Given the description of an element on the screen output the (x, y) to click on. 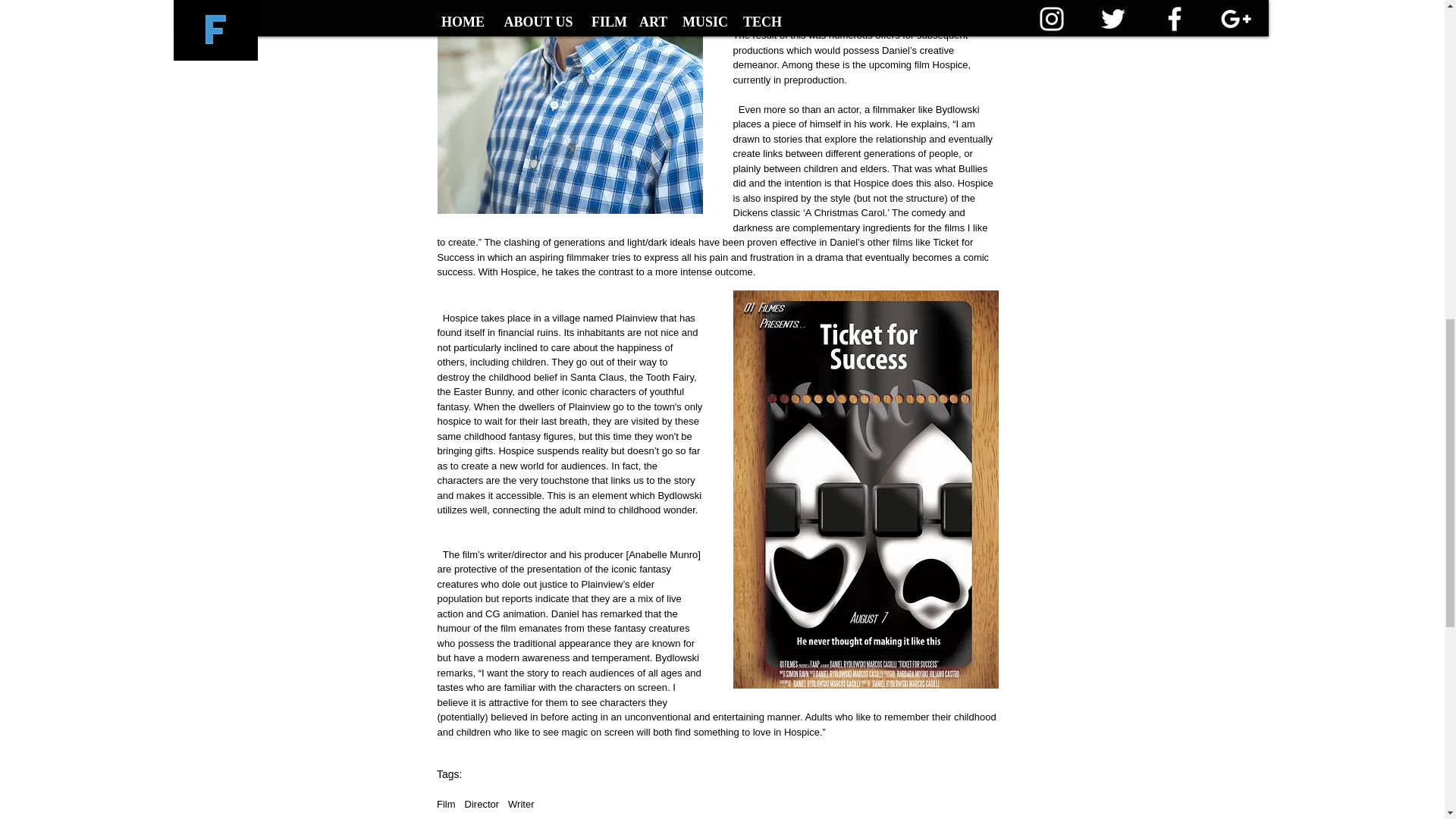
Director (481, 803)
Writer (521, 803)
Film (445, 803)
